Given the description of an element on the screen output the (x, y) to click on. 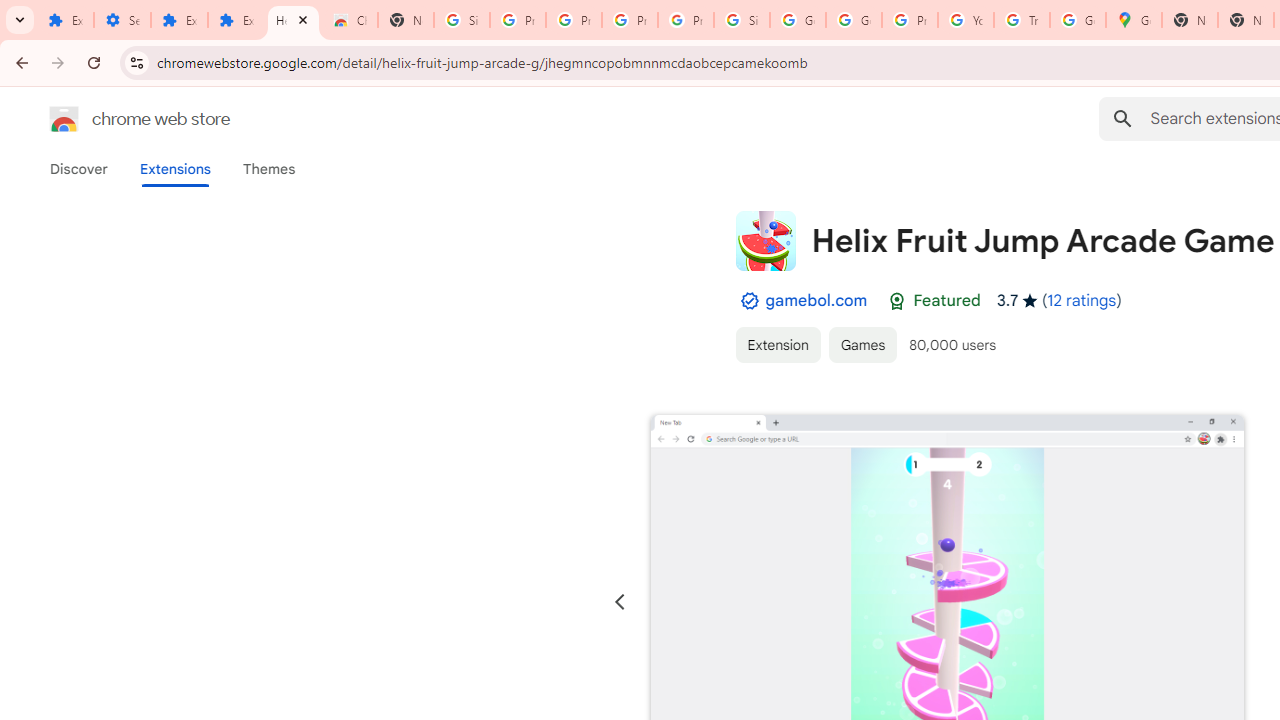
Previous slide (619, 601)
Extensions (179, 20)
Extensions (174, 169)
Themes (269, 169)
Item logo image for Helix Fruit Jump Arcade Game (765, 240)
Sign in - Google Accounts (742, 20)
Google Maps (1133, 20)
12 ratings (1082, 300)
